Given the description of an element on the screen output the (x, y) to click on. 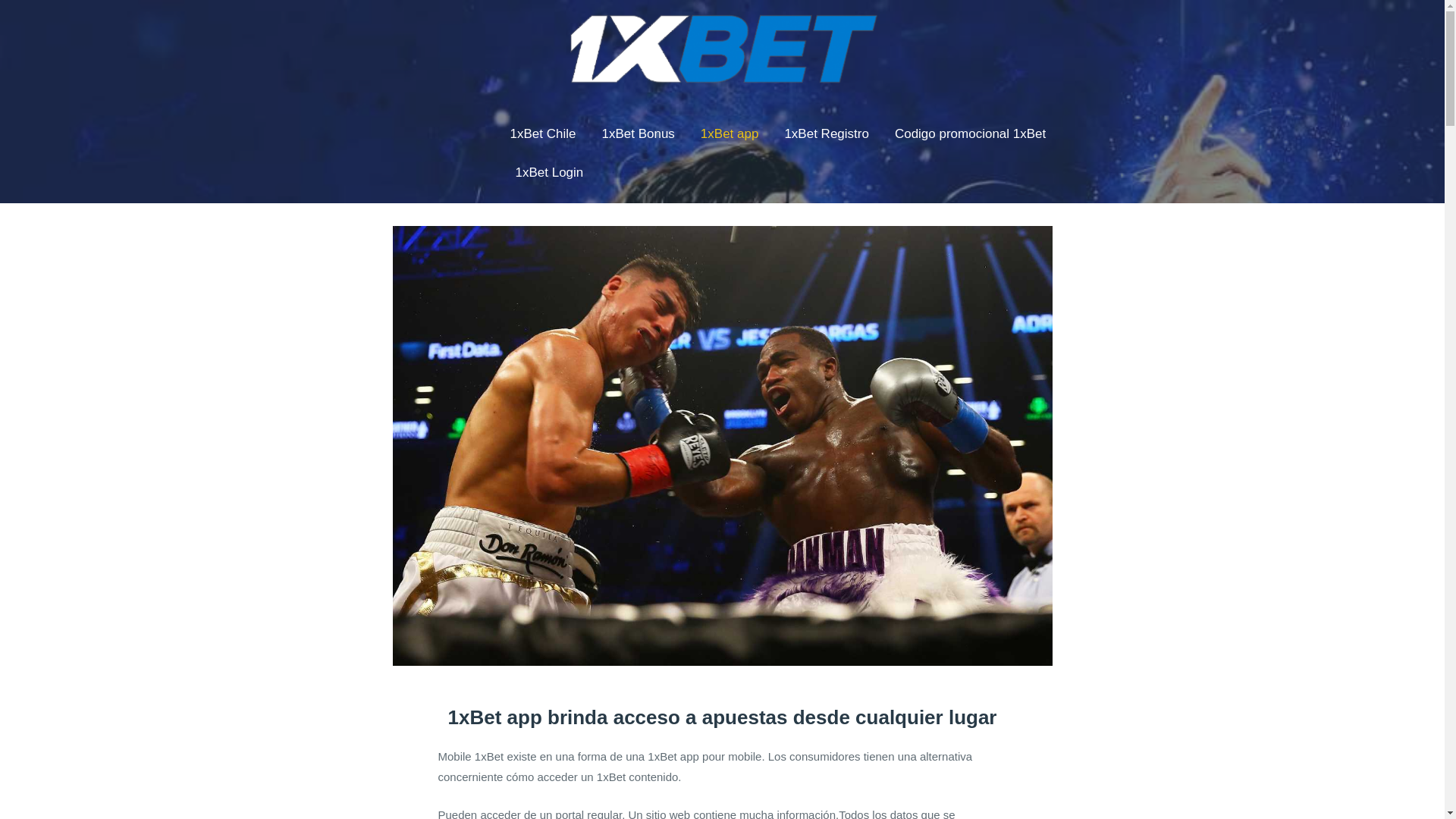
1xBet Login Element type: text (548, 172)
1xBet Registro Element type: text (826, 134)
Codigo promocional 1xBet Element type: text (970, 134)
1xBet Bonus Element type: text (637, 134)
1xBet app Element type: text (729, 134)
1xBet Chile Element type: text (543, 134)
